Given the description of an element on the screen output the (x, y) to click on. 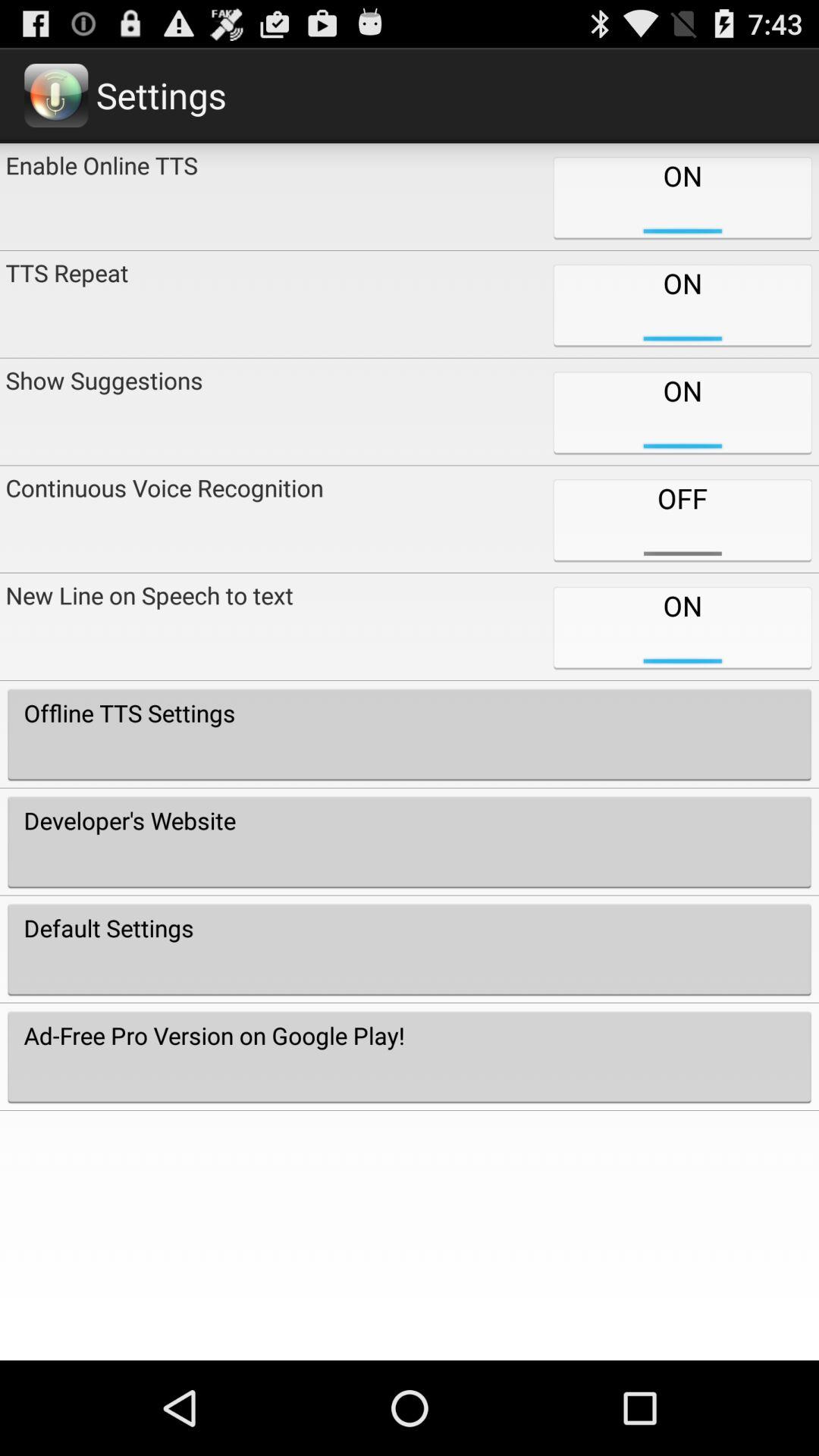
jump until default settings (409, 949)
